Given the description of an element on the screen output the (x, y) to click on. 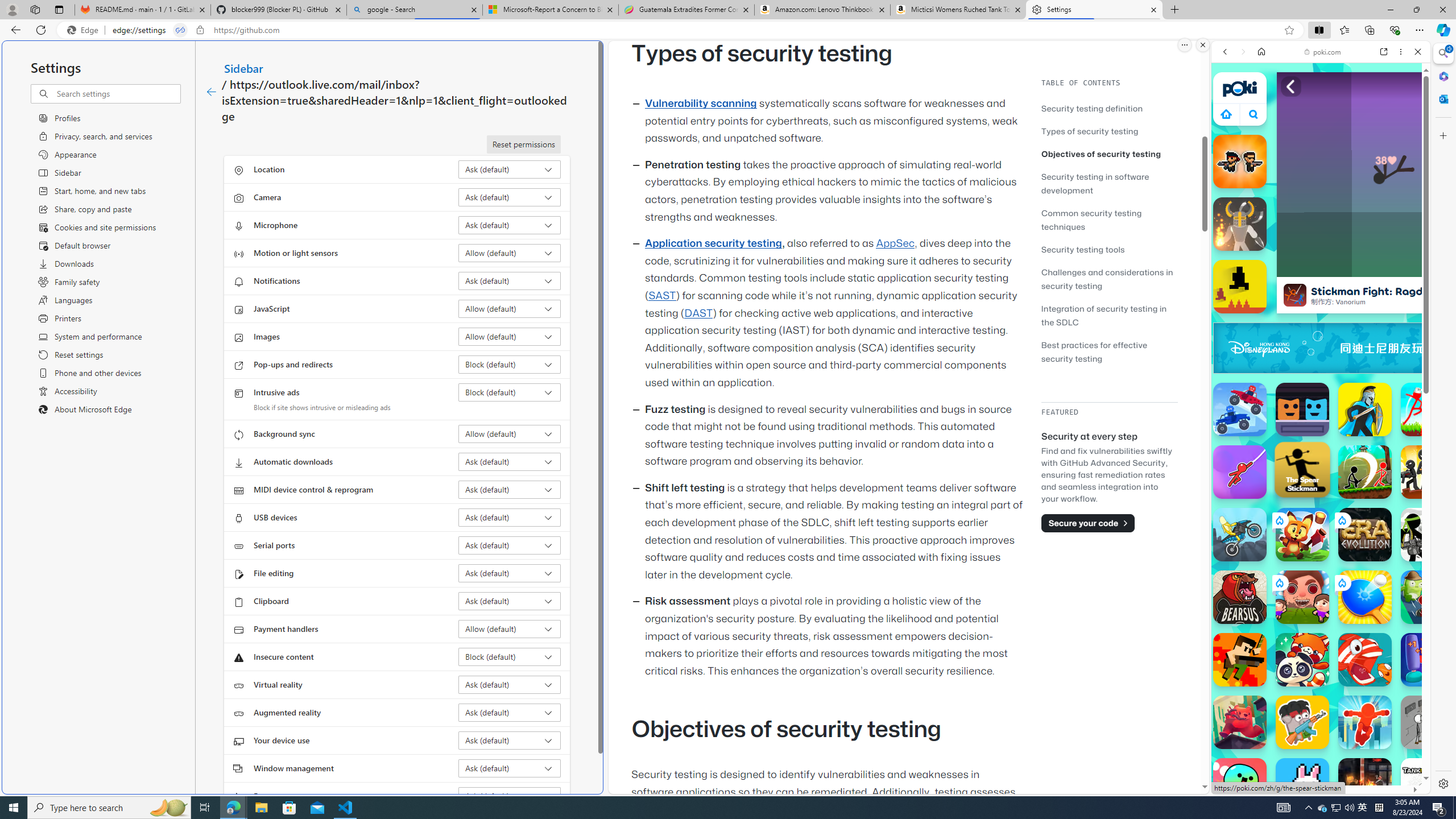
Fish Eat Fish Fish Eat Fish (1364, 659)
Show More Io Games (1390, 351)
Microsoft-Report a Concern to Bing (550, 9)
Your device use Ask (default) (509, 740)
Fox Island Builder Fox Island Builder (1302, 534)
Eat the world Eat the world (1302, 597)
Games for Girls (1320, 407)
Double Panda (1302, 659)
Stick Defenders Stick Defenders (1427, 471)
Address and search bar (695, 29)
Stickman Archero Fight Stickman Archero Fight (1364, 471)
